Given the description of an element on the screen output the (x, y) to click on. 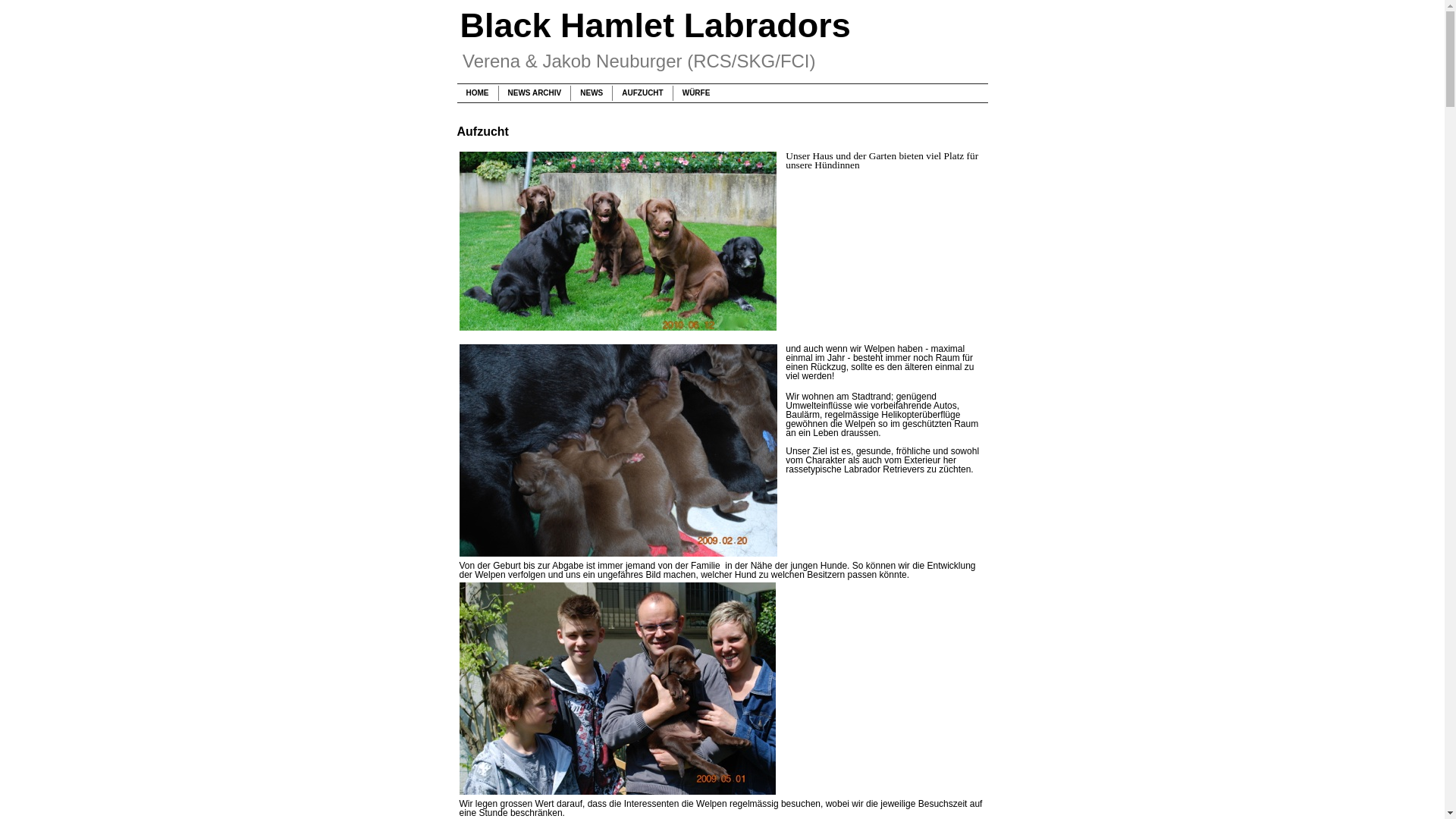
NEWS Element type: text (591, 93)
HOME Element type: text (476, 93)
AUFZUCHT Element type: text (641, 93)
Black Hamlet Labradors Element type: text (654, 25)
NEWS ARCHIV Element type: text (534, 93)
